Given the description of an element on the screen output the (x, y) to click on. 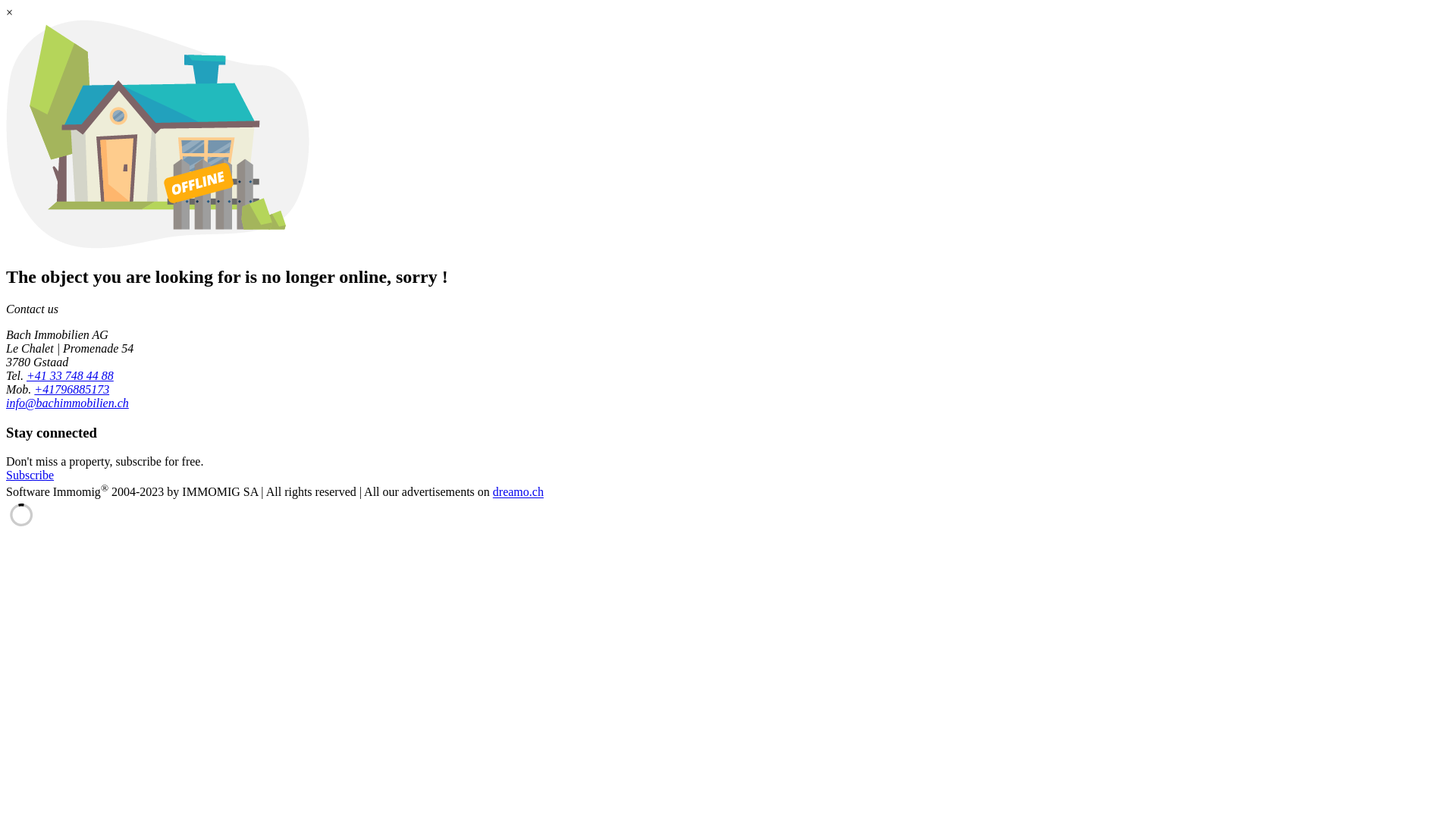
info@bachimmobilien.ch Element type: text (67, 402)
+41 33 748 44 88 Element type: text (69, 375)
Subscribe Element type: text (29, 474)
dreamo.ch Element type: text (517, 492)
+41796885173 Element type: text (71, 388)
